Given the description of an element on the screen output the (x, y) to click on. 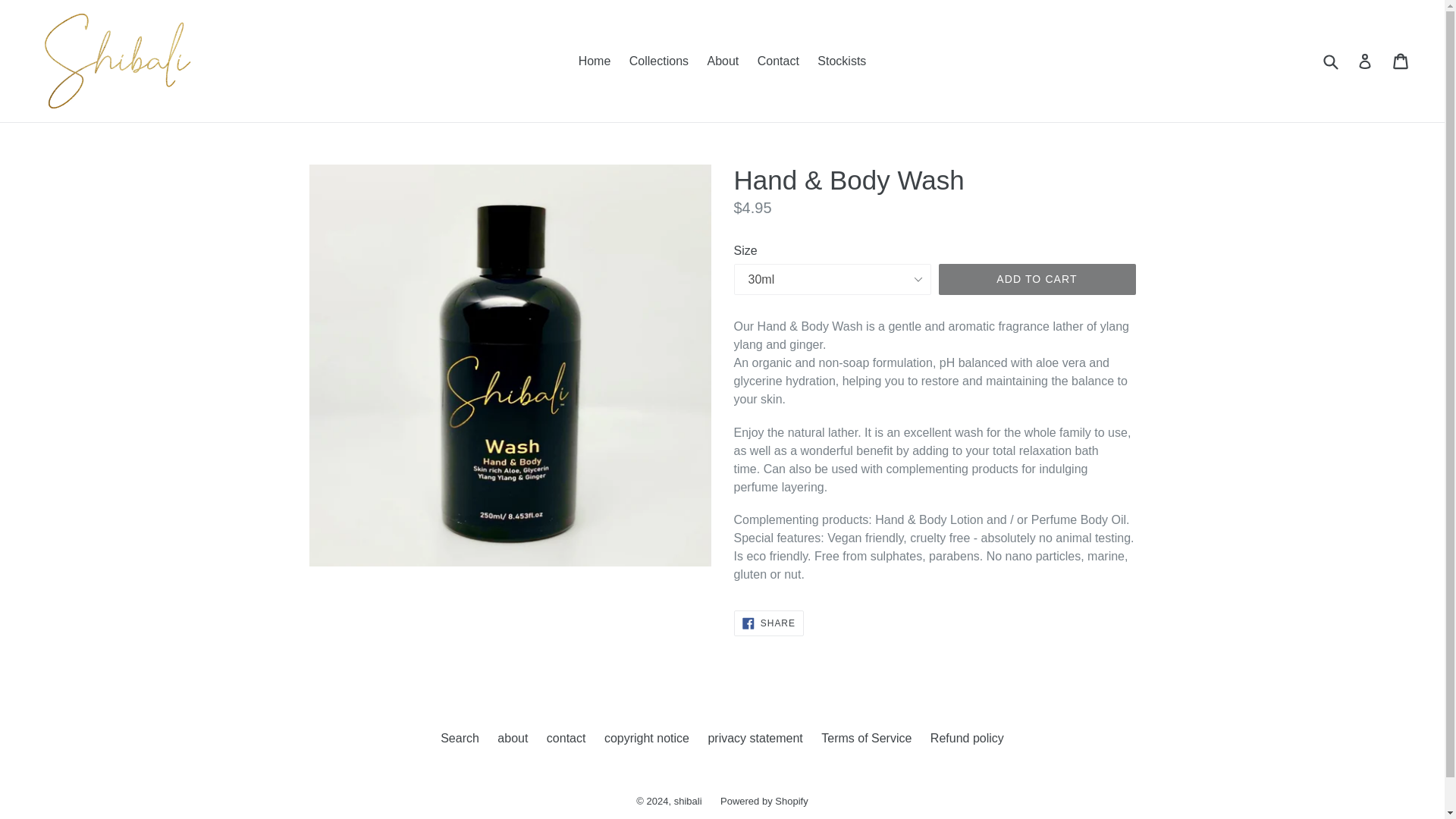
privacy statement (754, 738)
Collections (658, 60)
About (721, 60)
Home (594, 60)
Refund policy (967, 738)
shibali (687, 800)
copyright notice (646, 738)
Share on Facebook (768, 623)
Terms of Service (866, 738)
Stockists (841, 60)
